Given the description of an element on the screen output the (x, y) to click on. 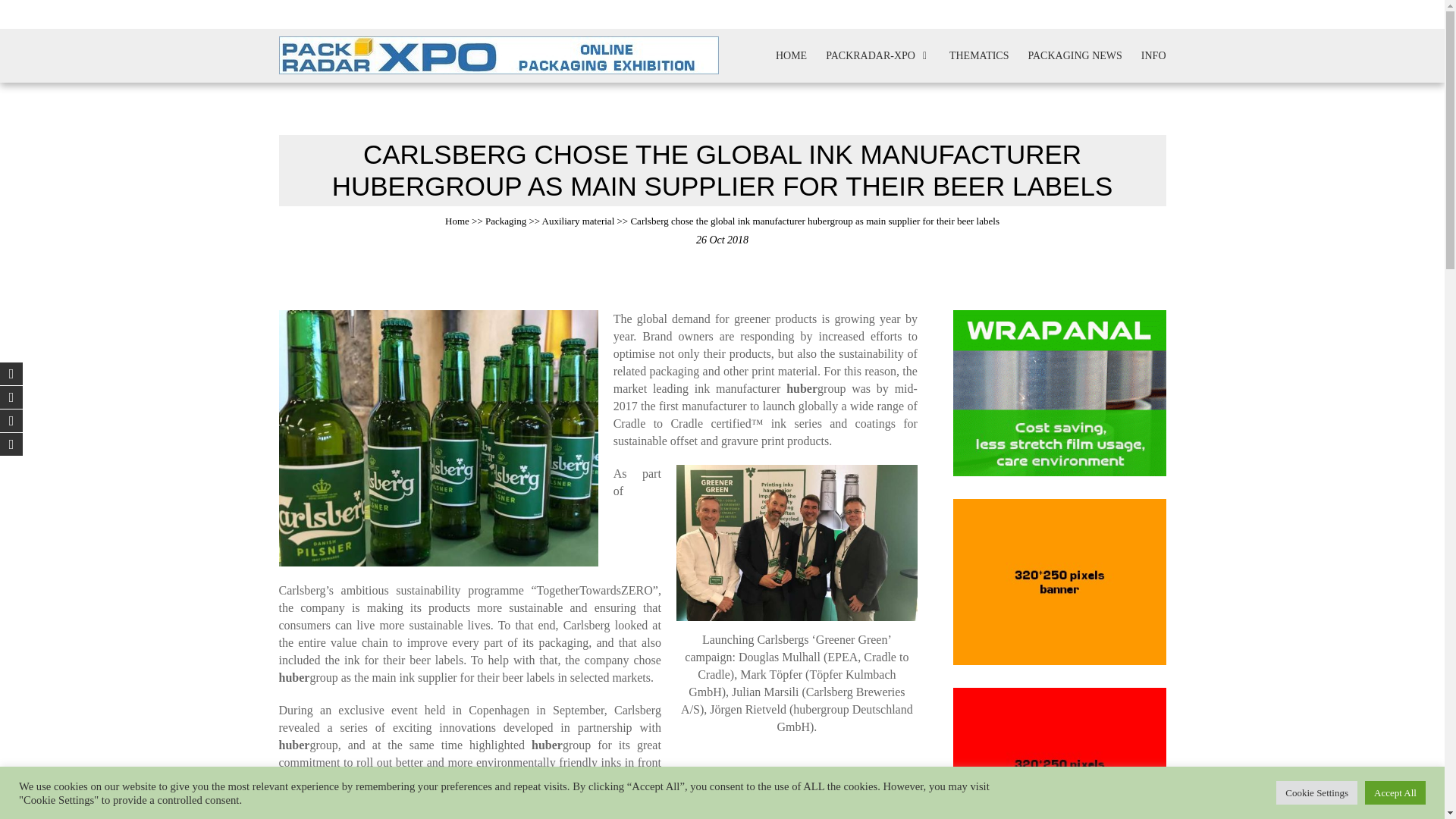
HOME (791, 55)
INFO (1153, 55)
Auxiliary material (577, 220)
Packaging (504, 220)
Stand designs (1019, 13)
Cookie Settings (1316, 792)
Home (456, 220)
PACKAGING NEWS (1074, 55)
Privacy Policy (943, 13)
Accept All (1395, 792)
PACKRADAR-XPO (877, 55)
THEMATICS (979, 55)
Imprint (880, 13)
